Given the description of an element on the screen output the (x, y) to click on. 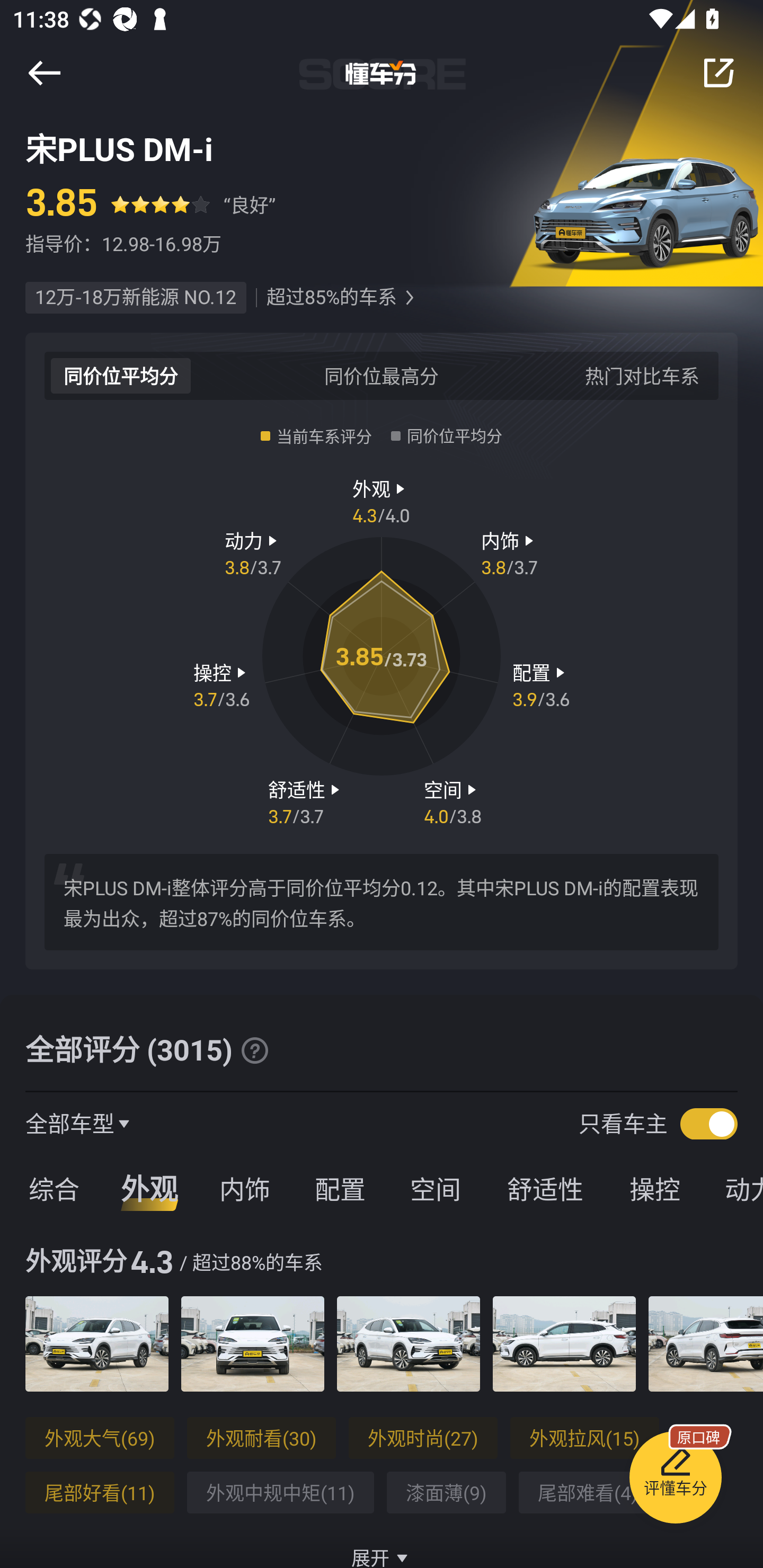
 (44, 72)
 (718, 72)
超过85%的车系 (331, 297)
 (408, 297)
同价位平均分 (120, 375)
同价位最高分 (381, 375)
热门对比车系 (641, 375)
外观  4.3 / 4.0 (381, 500)
动力  3.8 / 3.7 (252, 552)
内饰  3.8 / 3.7 (509, 552)
操控  3.7 / 3.6 (221, 685)
配置  3.9 / 3.6 (540, 685)
舒适性  3.7 / 3.7 (305, 801)
空间  4.0 / 3.8 (452, 801)
 (254, 1050)
全部车型 (69, 1123)
综合 (50, 1188)
内饰 (244, 1188)
配置 (339, 1188)
空间 (434, 1188)
舒适性 (544, 1188)
操控 (654, 1188)
外观大气(69) (99, 1437)
外观耐看(30) (260, 1437)
外观时尚(27) (422, 1437)
外观拉风(15) (584, 1437)
 评懂车分 原口碑 (675, 1480)
尾部好看(11) (99, 1492)
外观中规中矩(11) (279, 1492)
漆面薄(9) (445, 1492)
尾部难看(4) (587, 1492)
展开  (381, 1546)
